Given the description of an element on the screen output the (x, y) to click on. 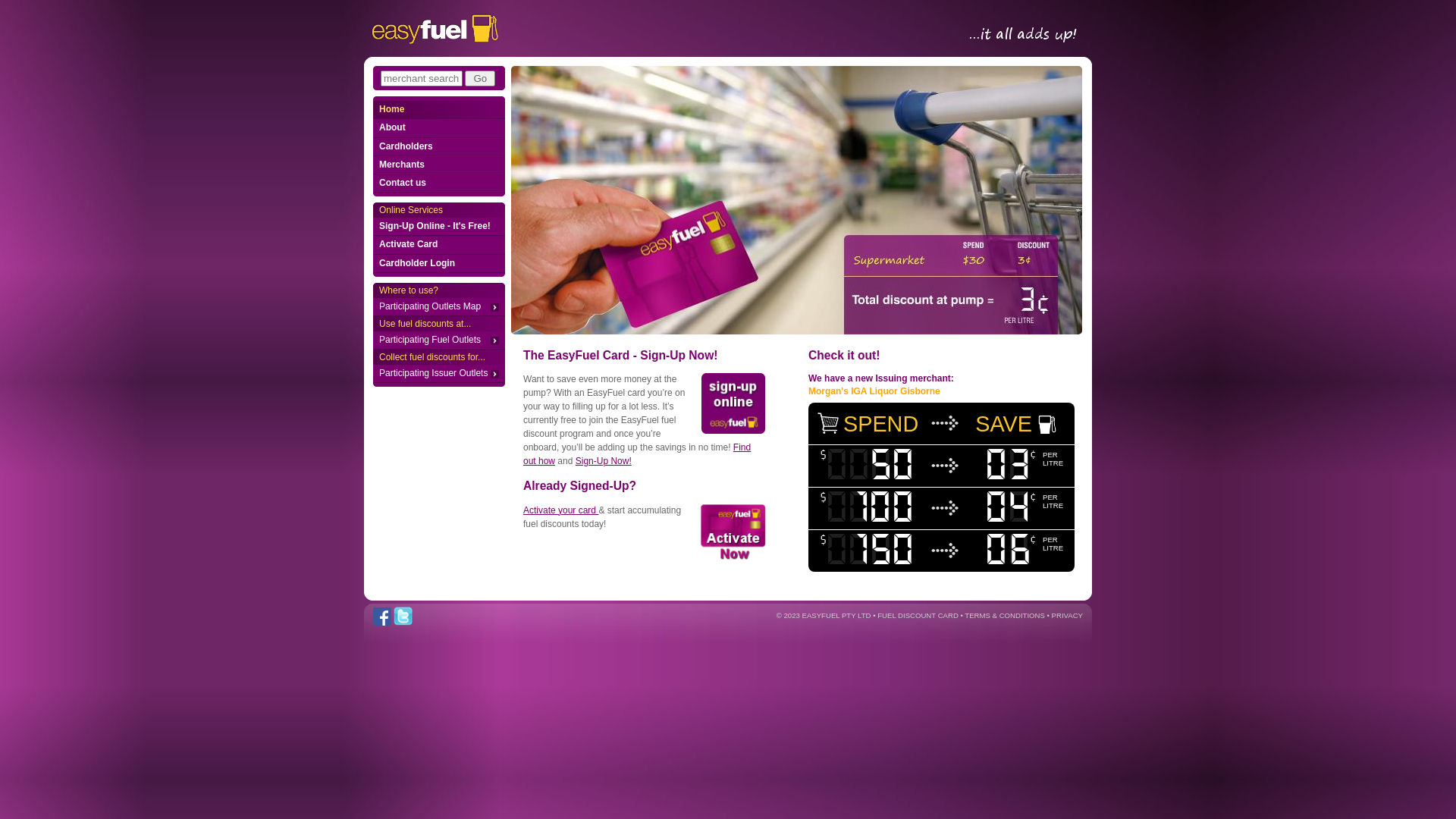
About Element type: text (439, 128)
Sign-Up Online - It's Free! Element type: text (439, 226)
Participating Issuer Outlets Element type: text (439, 373)
Sign-Up Now! Element type: text (603, 460)
Find out how Element type: text (636, 454)
PRIVACY Element type: text (1066, 615)
Home Element type: text (439, 109)
Contact us Element type: text (439, 183)
Morgan's IGA Liquor Gisborne Element type: text (874, 390)
Merchants Element type: text (439, 165)
TERMS & CONDITIONS Element type: text (1004, 615)
Participating Outlets Map Element type: text (439, 307)
FUEL DISCOUNT CARD Element type: text (917, 615)
Activate Card Element type: text (439, 244)
Participating Fuel Outlets Element type: text (439, 340)
Cardholders Element type: text (439, 147)
Cardholder Login Element type: text (439, 263)
Go Element type: text (479, 78)
Activate your card Element type: text (560, 510)
